Given the description of an element on the screen output the (x, y) to click on. 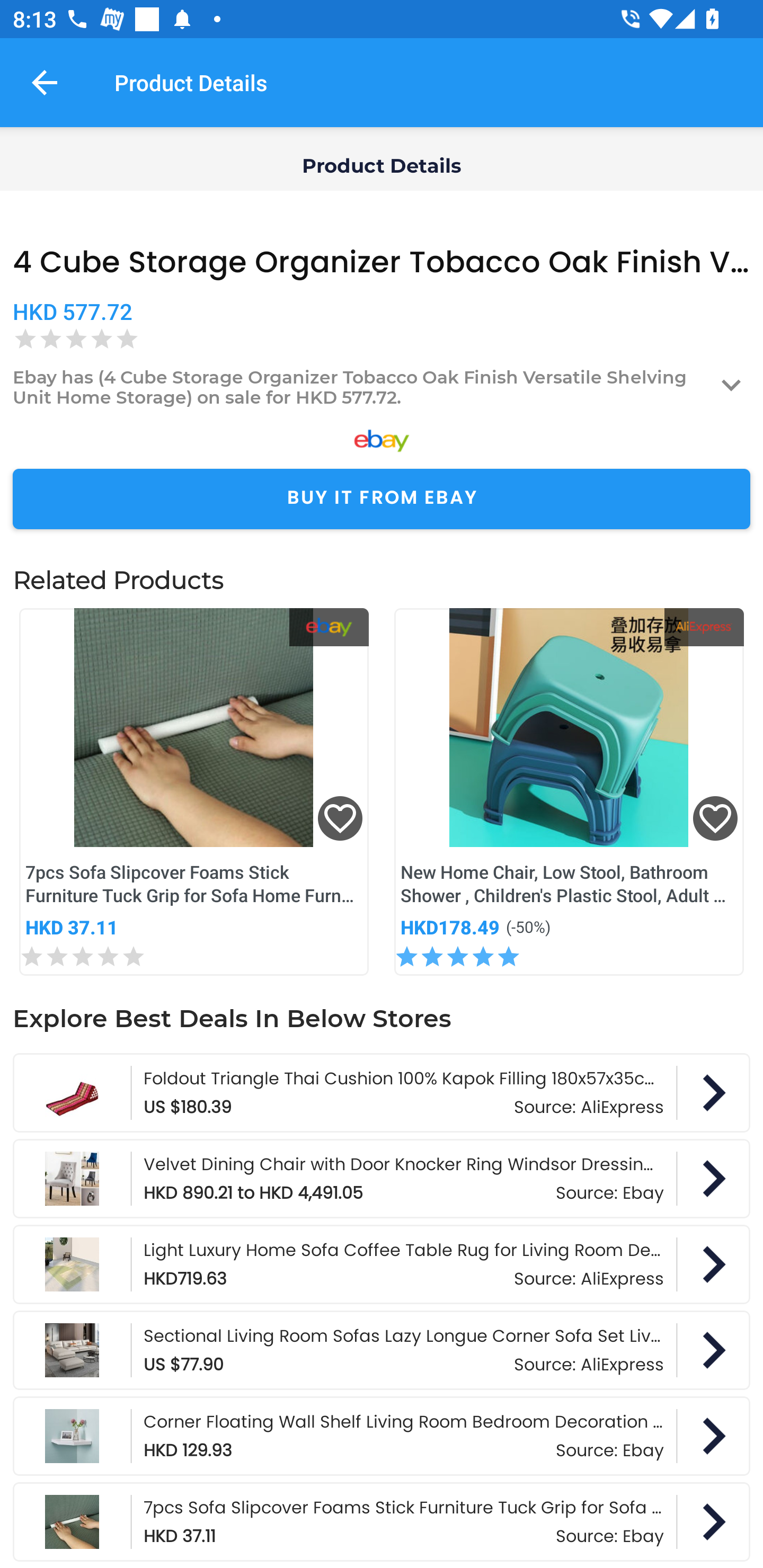
Navigate up (44, 82)
BUY IT FROM EBAY (381, 499)
